Given the description of an element on the screen output the (x, y) to click on. 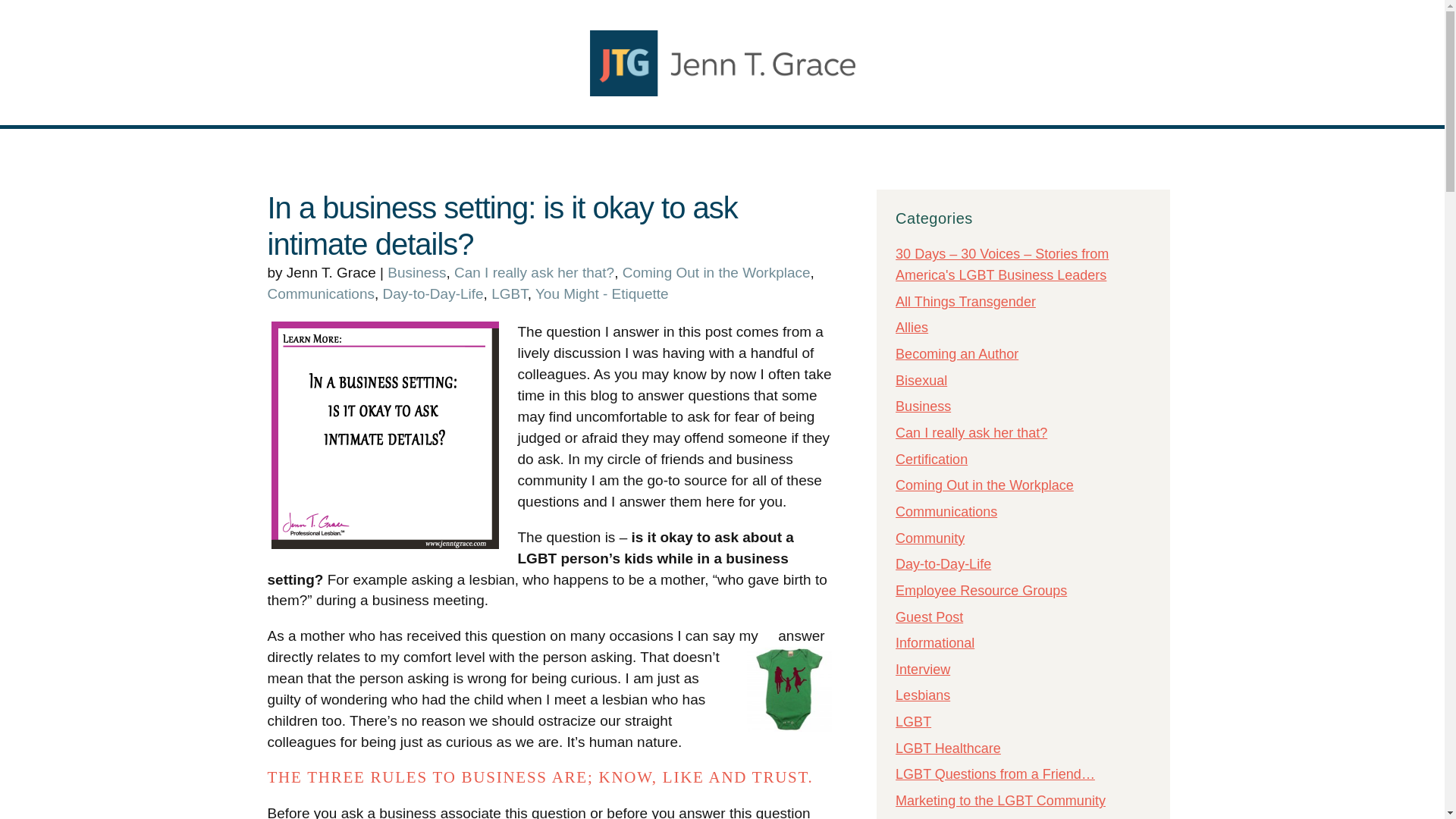
Communications (320, 293)
Can I really ask her that? (534, 272)
Day-to-Day-Life (432, 293)
SKIP TO THE CONTENT (14, 14)
Coming Out in the Workplace (716, 272)
Business (416, 272)
